Given the description of an element on the screen output the (x, y) to click on. 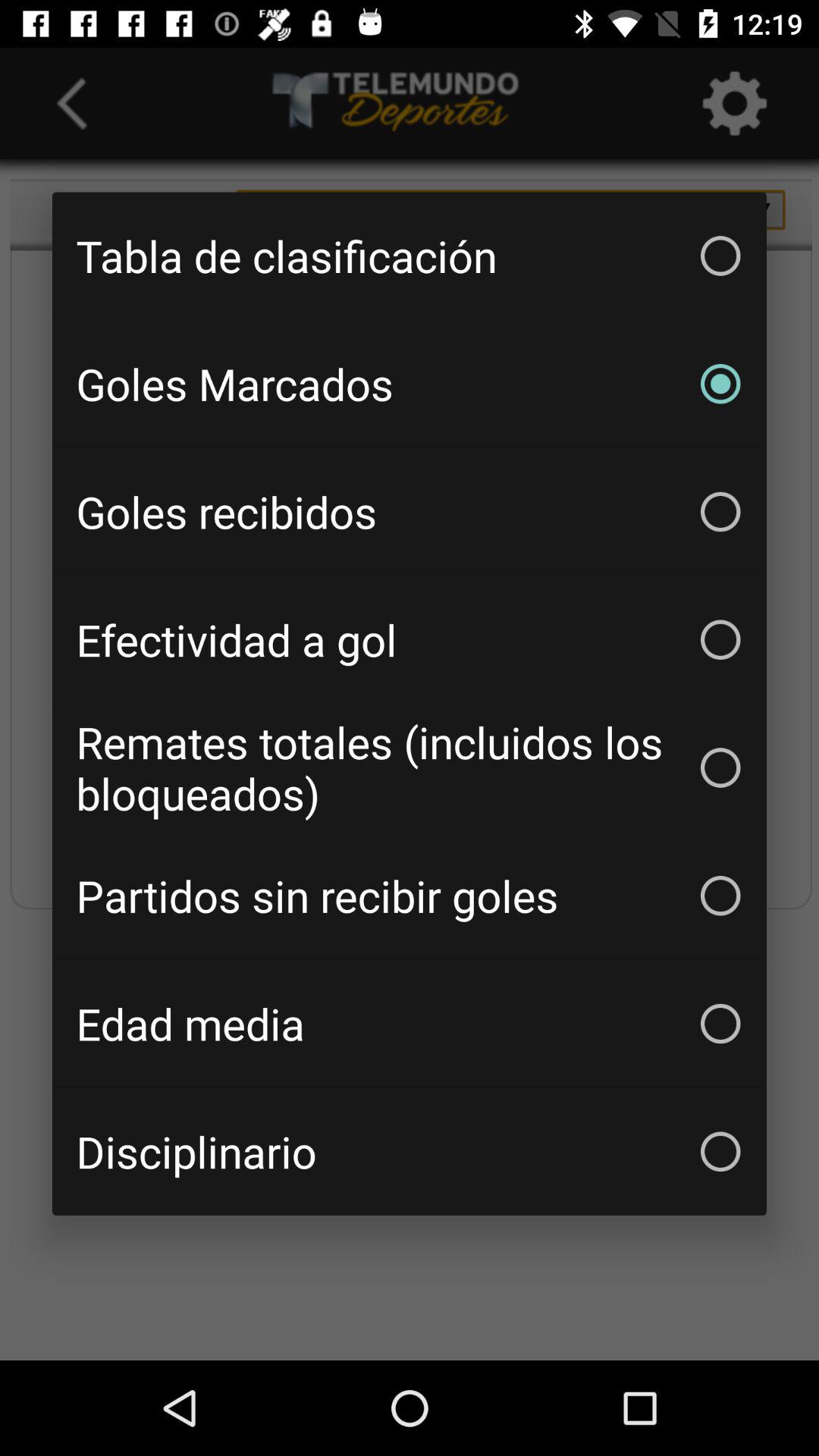
click icon below the remates totales incluidos item (409, 895)
